Given the description of an element on the screen output the (x, y) to click on. 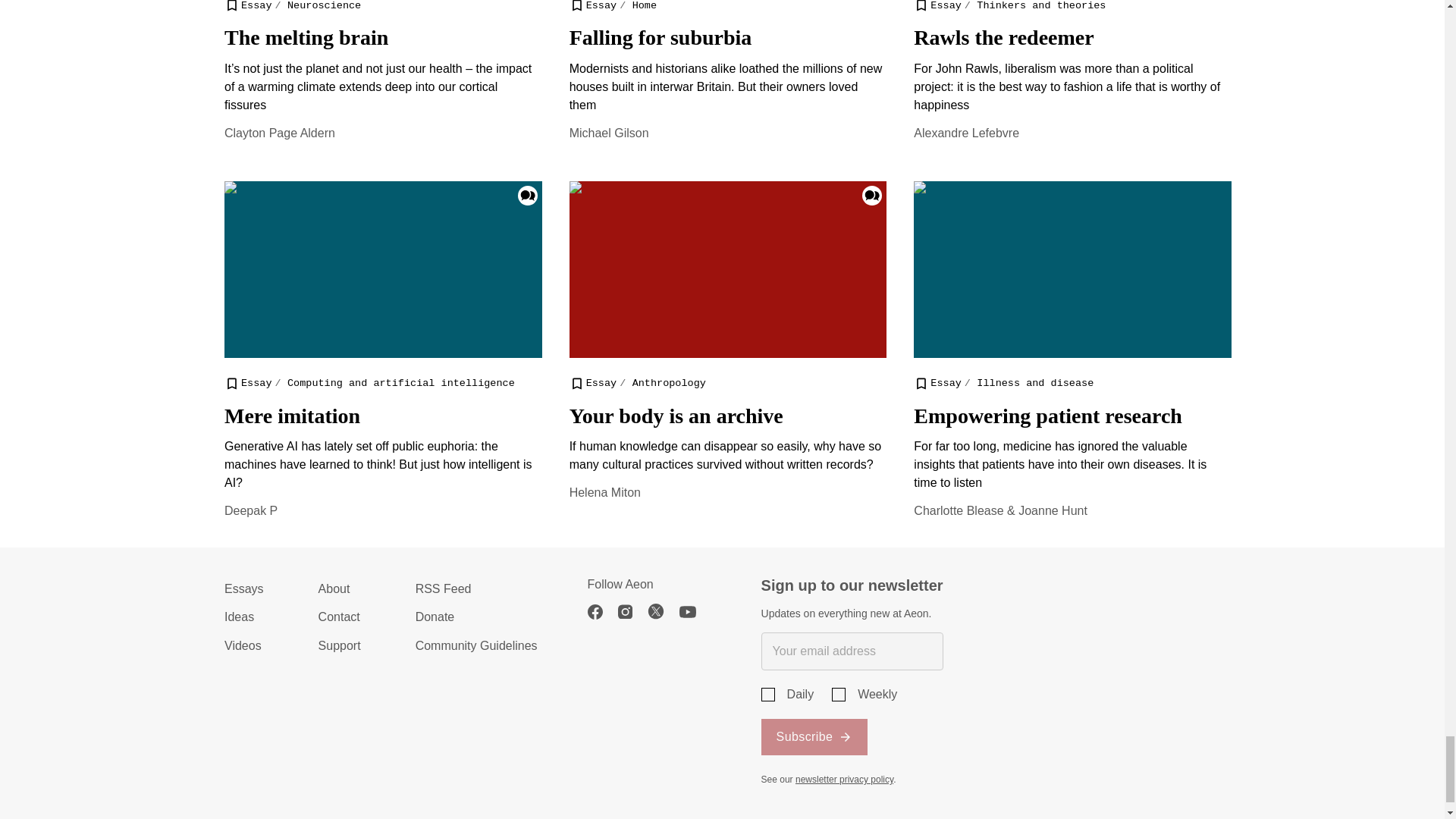
Facebook (602, 610)
Instagram (632, 610)
YouTube (695, 610)
